Given the description of an element on the screen output the (x, y) to click on. 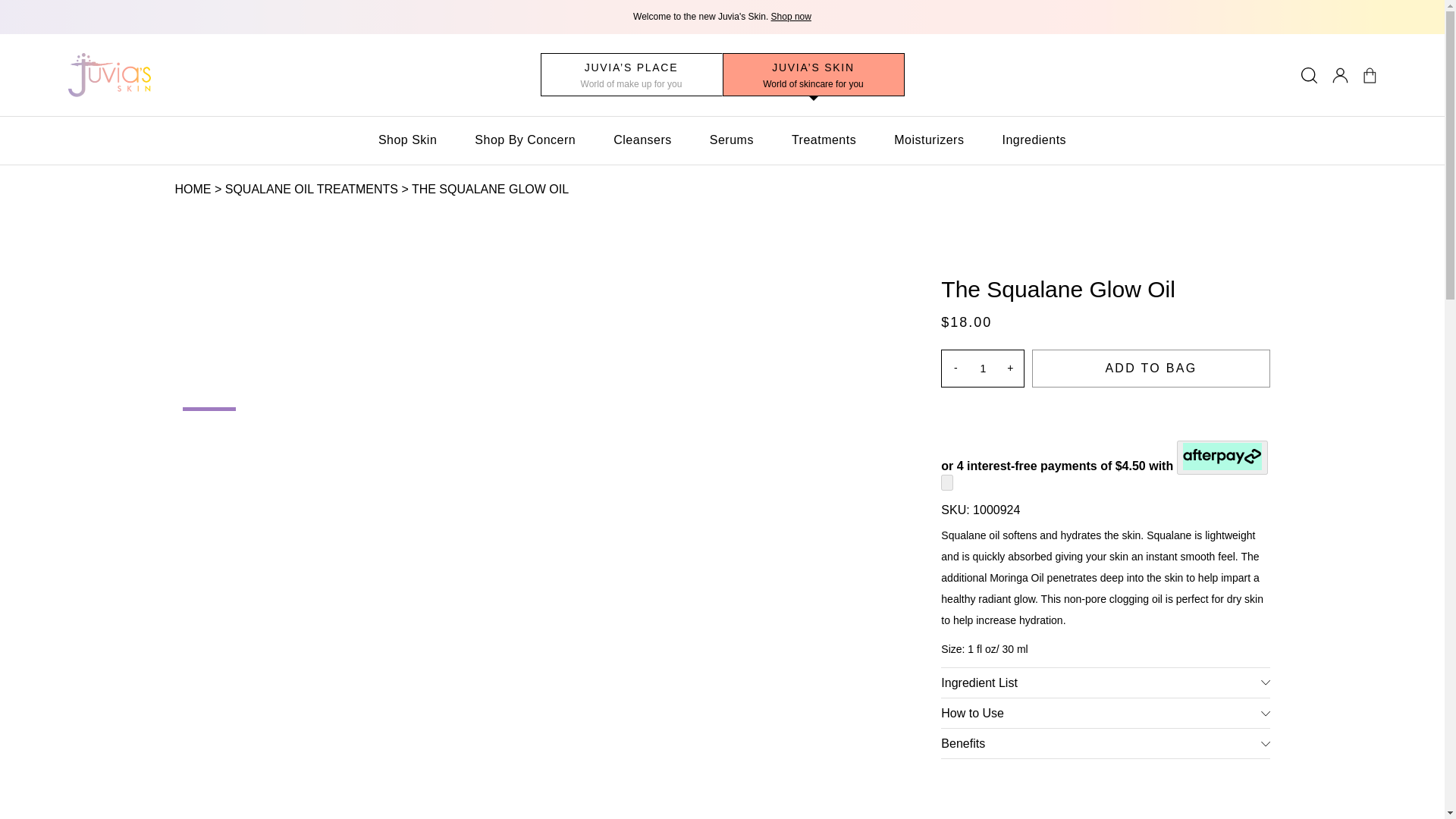
Serums (732, 139)
Shop Skin (407, 139)
All Juvia's Skin Products (790, 16)
search (1309, 74)
Treatments (824, 139)
Cleansers (641, 139)
Shop now (790, 16)
Login (1340, 74)
Shop By Concern (524, 139)
